Given the description of an element on the screen output the (x, y) to click on. 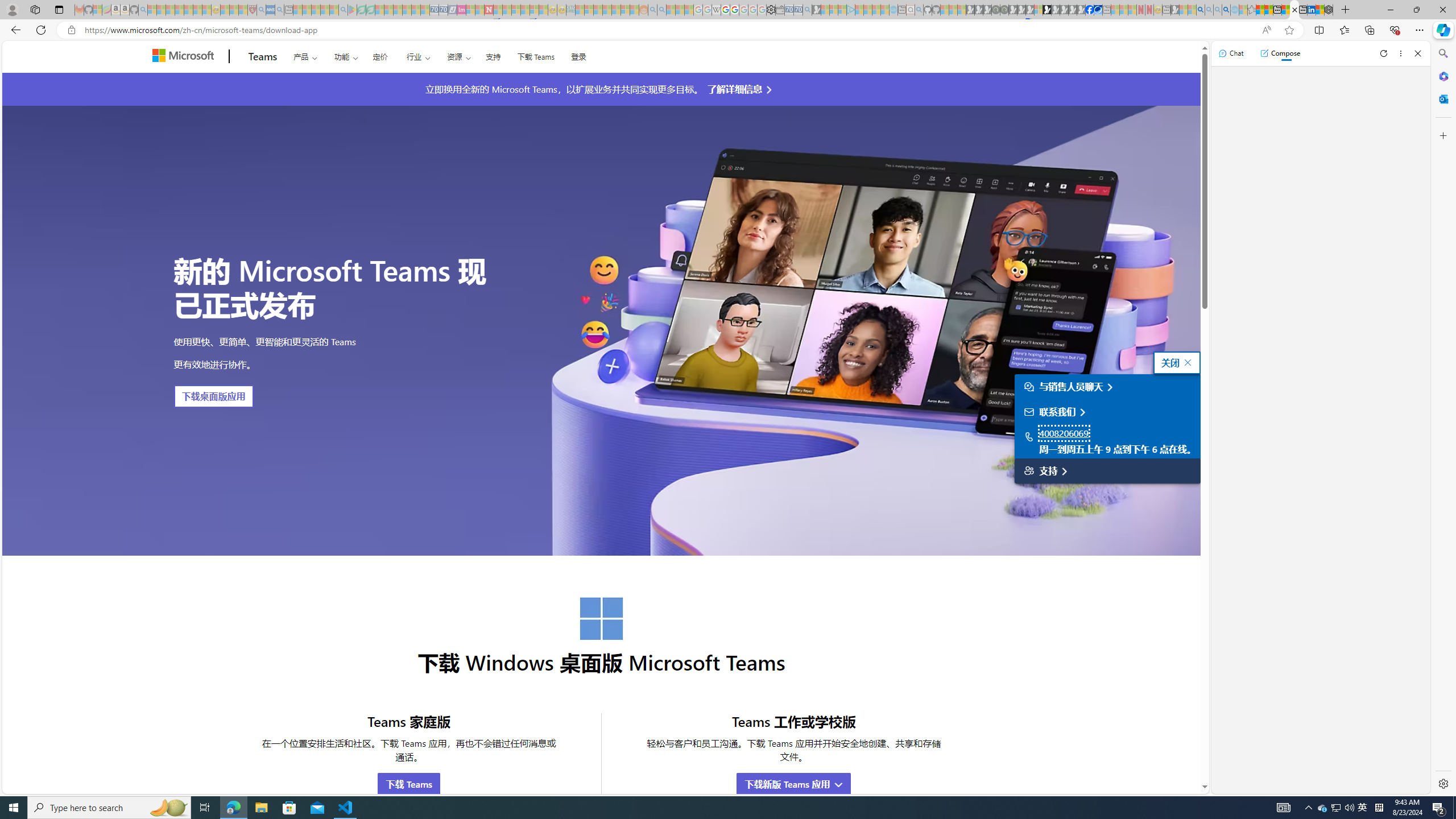
Nordace - Summer Adventures 2024 (1328, 9)
Home | Sky Blue Bikes - Sky Blue Bikes - Sleeping (892, 9)
Future Focus Report 2024 - Sleeping (1004, 9)
Bing AI - Search (1200, 9)
